Given the description of an element on the screen output the (x, y) to click on. 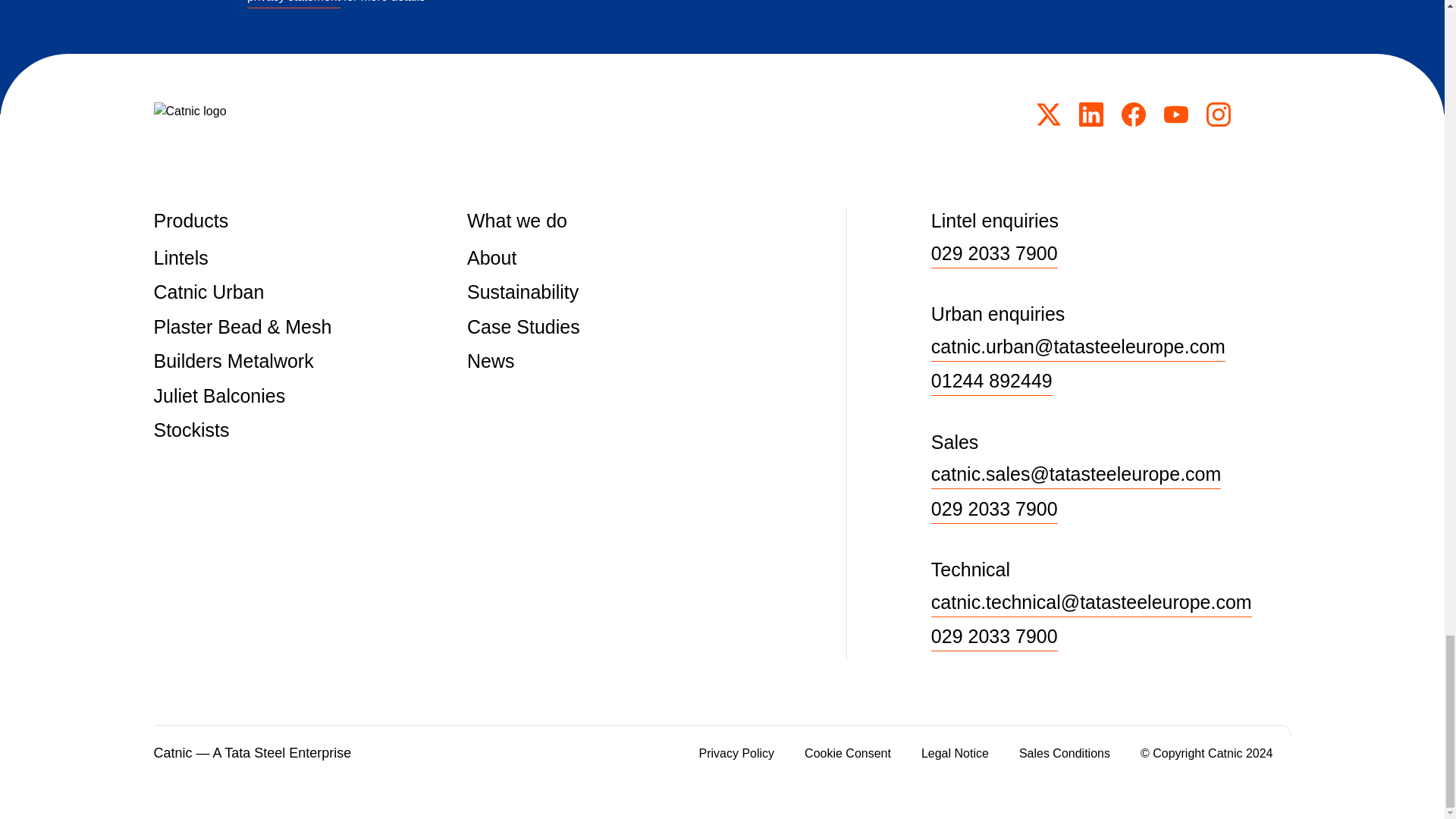
Instagram (1217, 114)
LinkedIn (1090, 114)
Twitter (1047, 114)
Facebook (1132, 114)
YouTube (1175, 114)
